Given the description of an element on the screen output the (x, y) to click on. 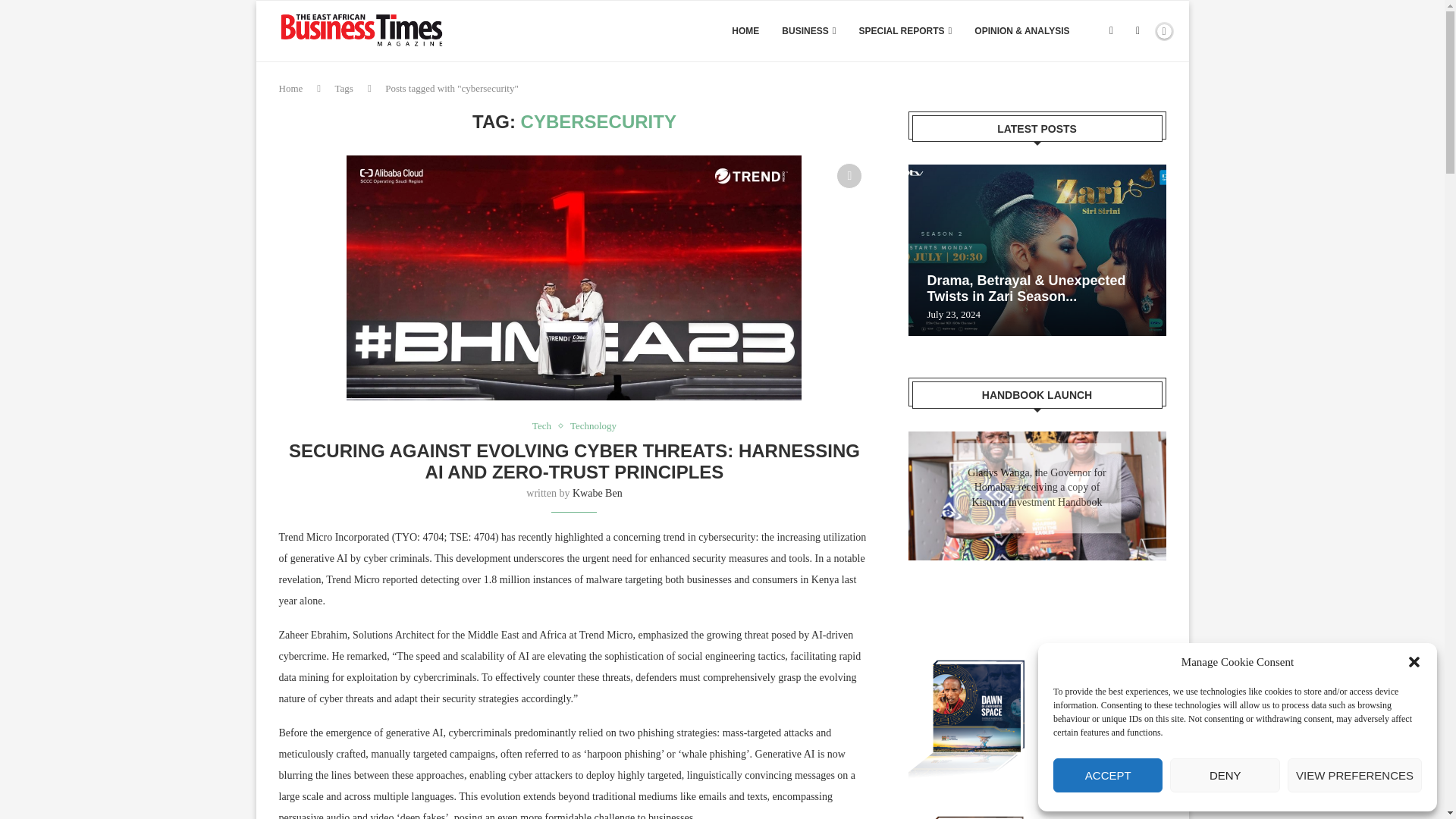
ACCEPT (1106, 775)
HOME (745, 30)
DENY (1224, 775)
Home (290, 88)
SPECIAL REPORTS (905, 30)
2178947 (574, 277)
Bookmark (1136, 30)
VIEW PREFERENCES (1354, 775)
BUSINESS (808, 30)
Bookmark (848, 175)
